Given the description of an element on the screen output the (x, y) to click on. 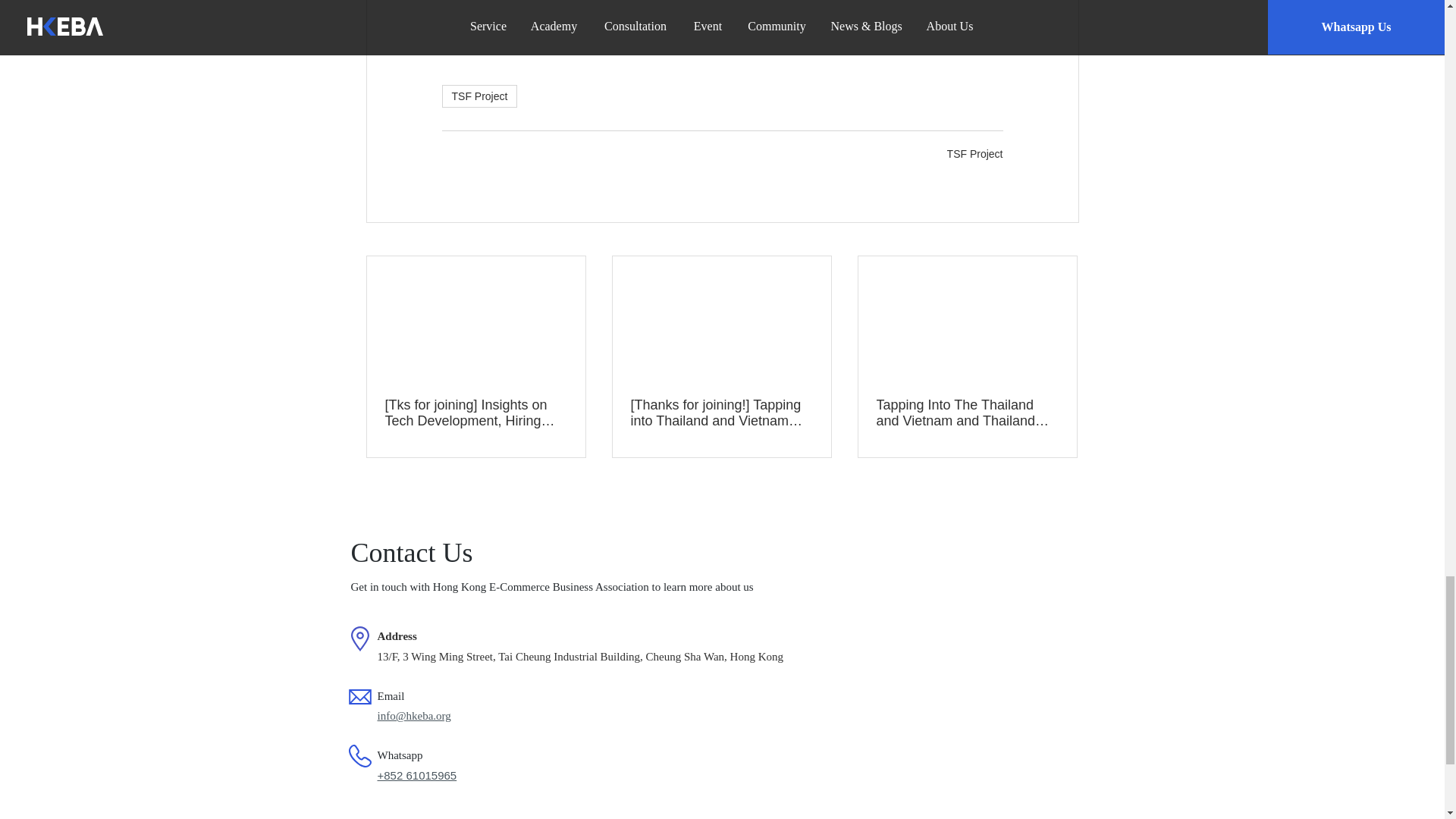
TSF Project (975, 153)
TSF Project (478, 96)
